Given the description of an element on the screen output the (x, y) to click on. 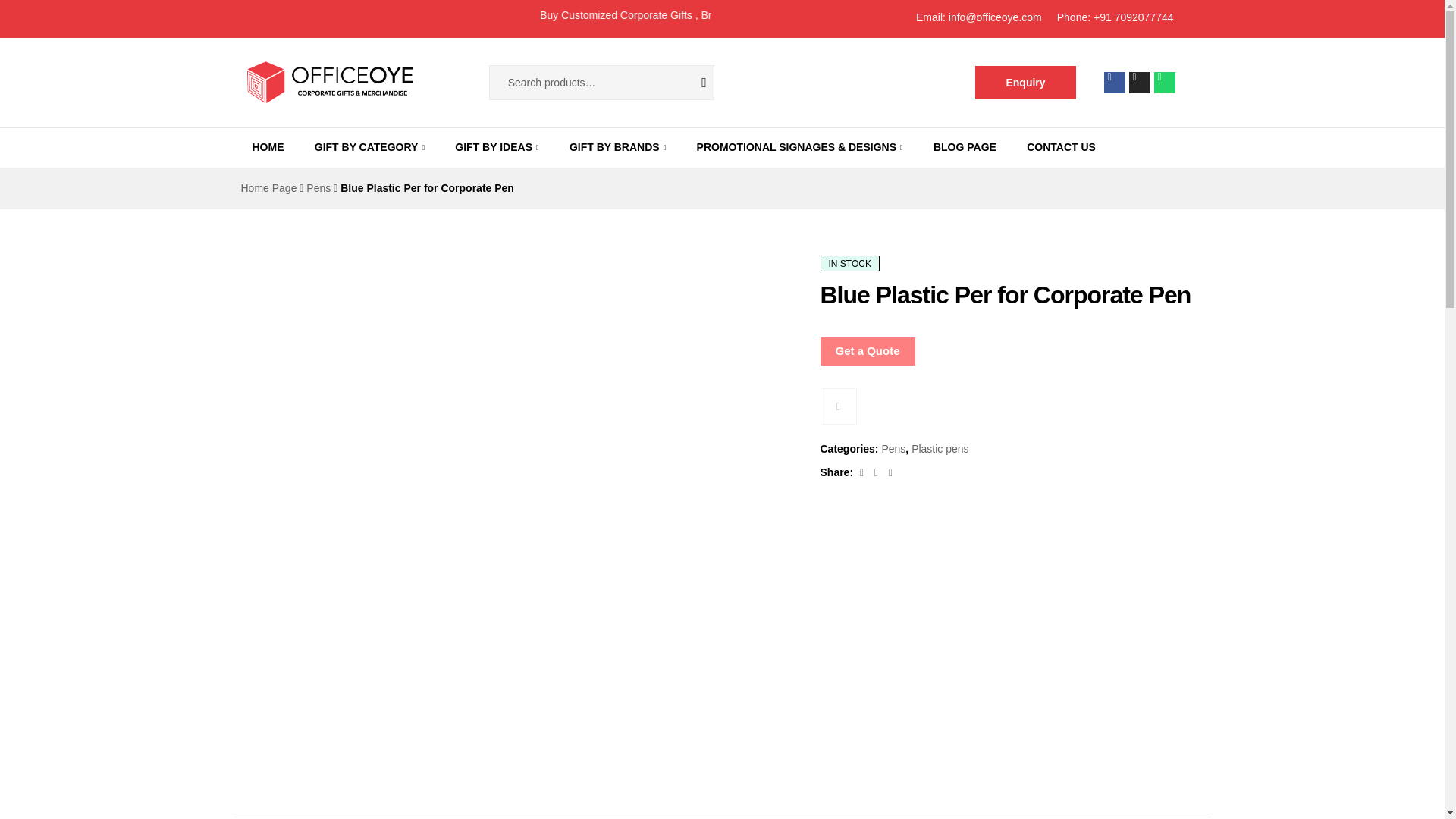
Email to a Friend (890, 471)
Search (691, 82)
Share on Twitter (877, 471)
Enquiry (1025, 82)
Share on facebook (863, 471)
HOME (267, 147)
GIFT BY CATEGORY (370, 147)
